Given the description of an element on the screen output the (x, y) to click on. 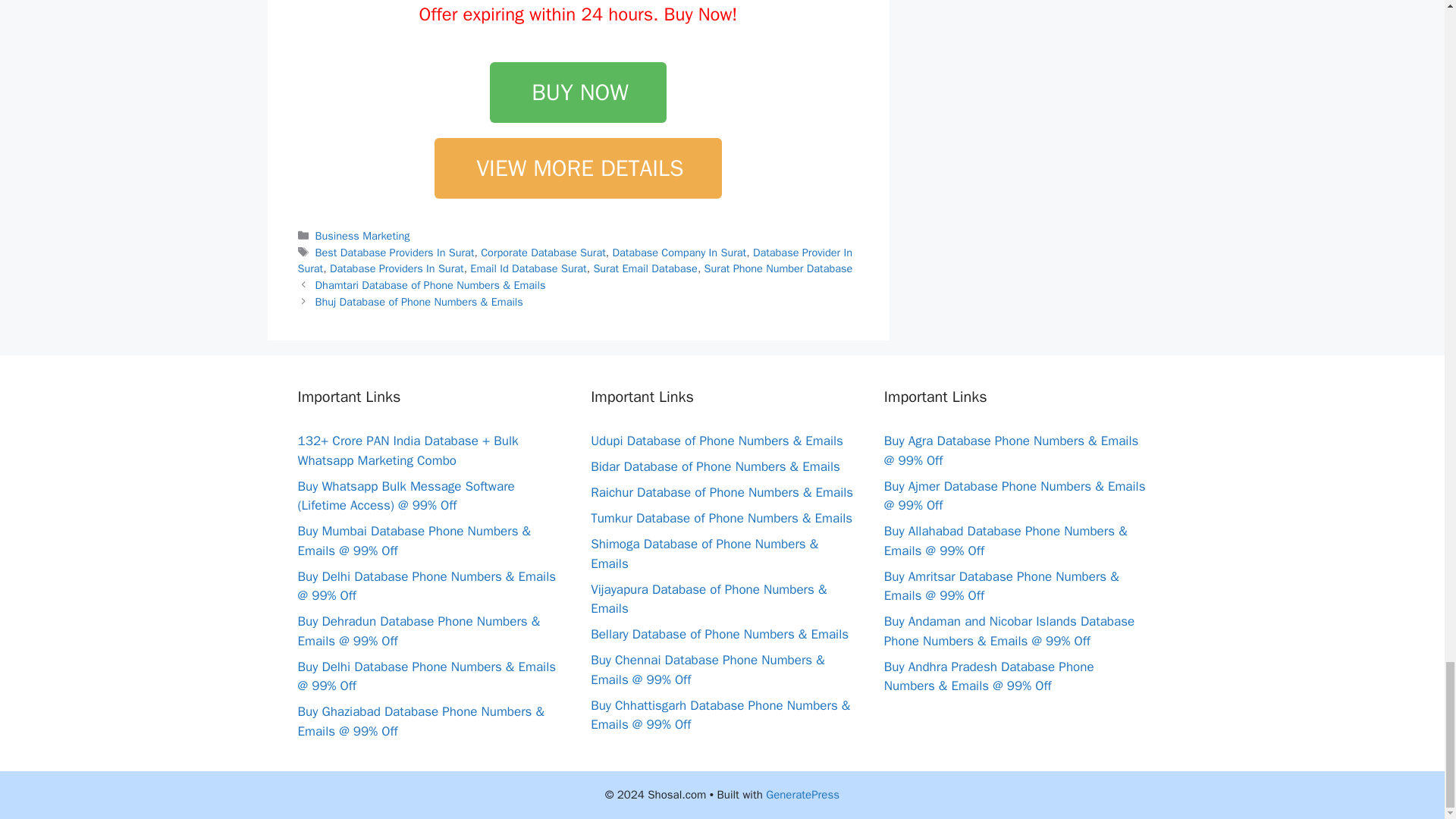
BUY NOW (577, 92)
VIEW MORE DETAILS (576, 168)
Business Marketing (362, 235)
Best Database Providers In Surat (394, 252)
Surat Email Database (644, 268)
Database Company In Surat (678, 252)
Database Provider In Surat (574, 260)
Corporate Database Surat (542, 252)
Surat Phone Number Database (778, 268)
Database Providers In Surat (397, 268)
Email Id Database Surat (528, 268)
